Given the description of an element on the screen output the (x, y) to click on. 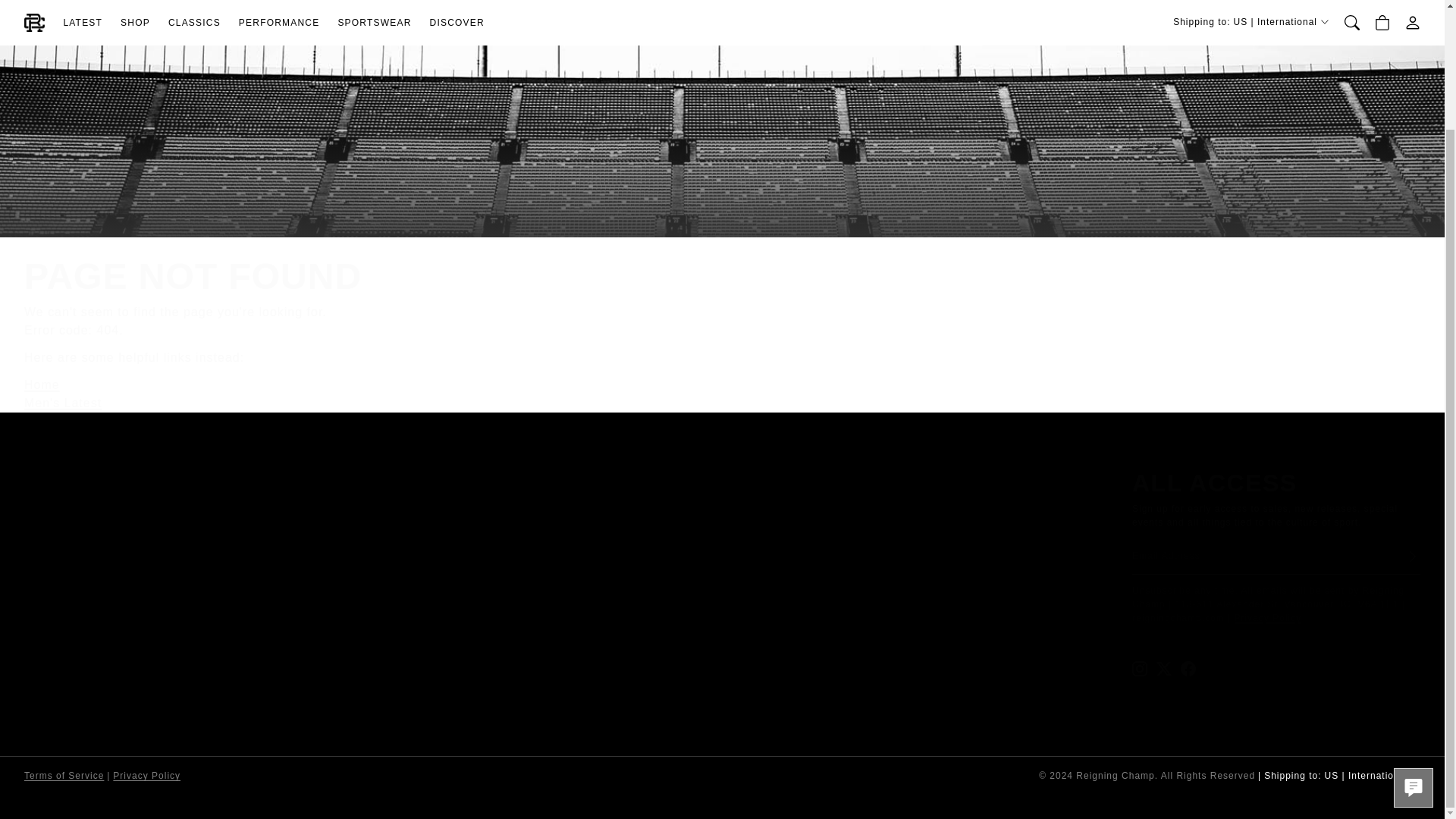
Contact (57, 421)
Privacy Policy (1267, 617)
PAGE NOT FOUND (489, 276)
Men's Latest (62, 402)
